Given the description of an element on the screen output the (x, y) to click on. 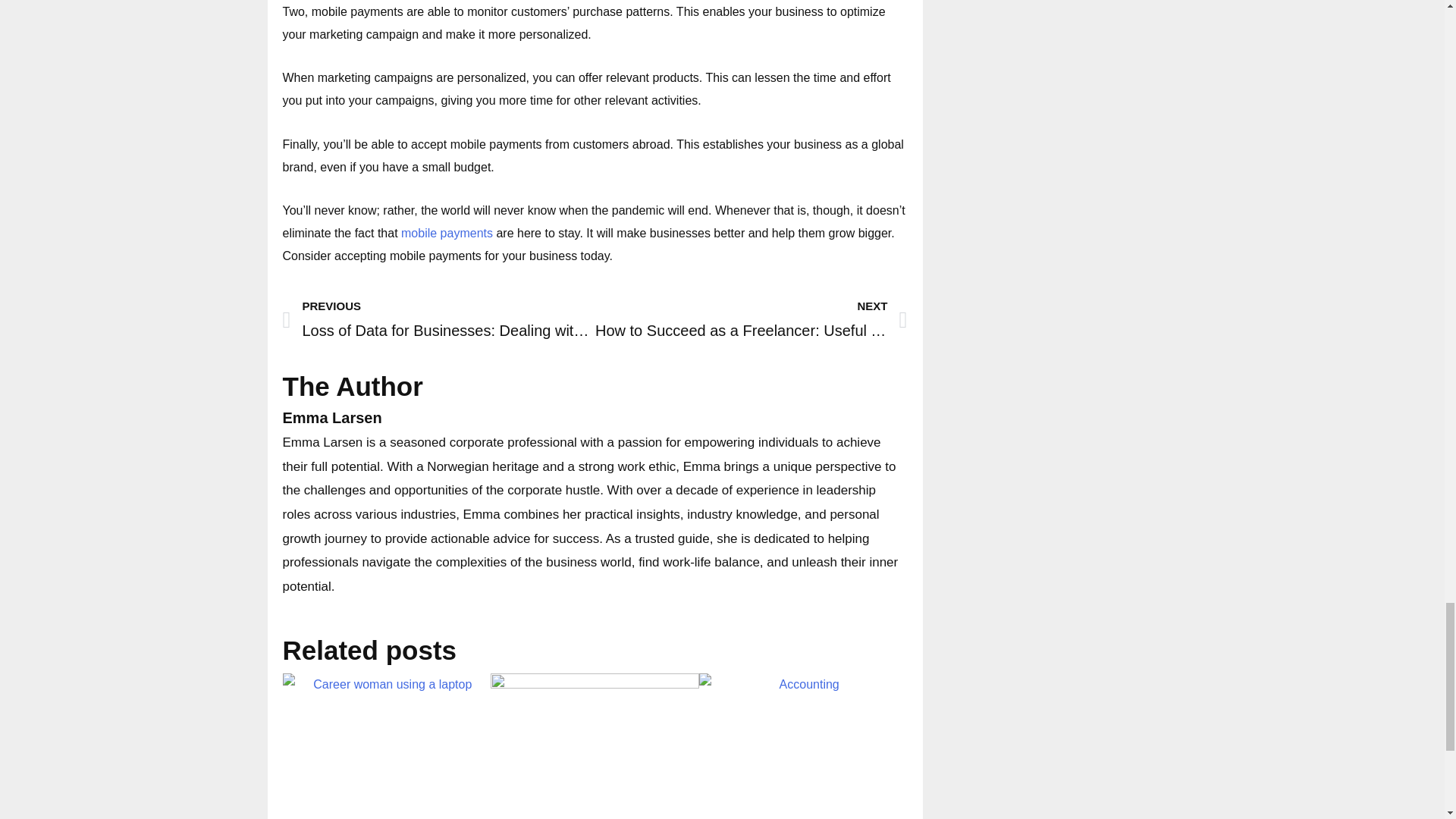
mobile payments (448, 232)
